Given the description of an element on the screen output the (x, y) to click on. 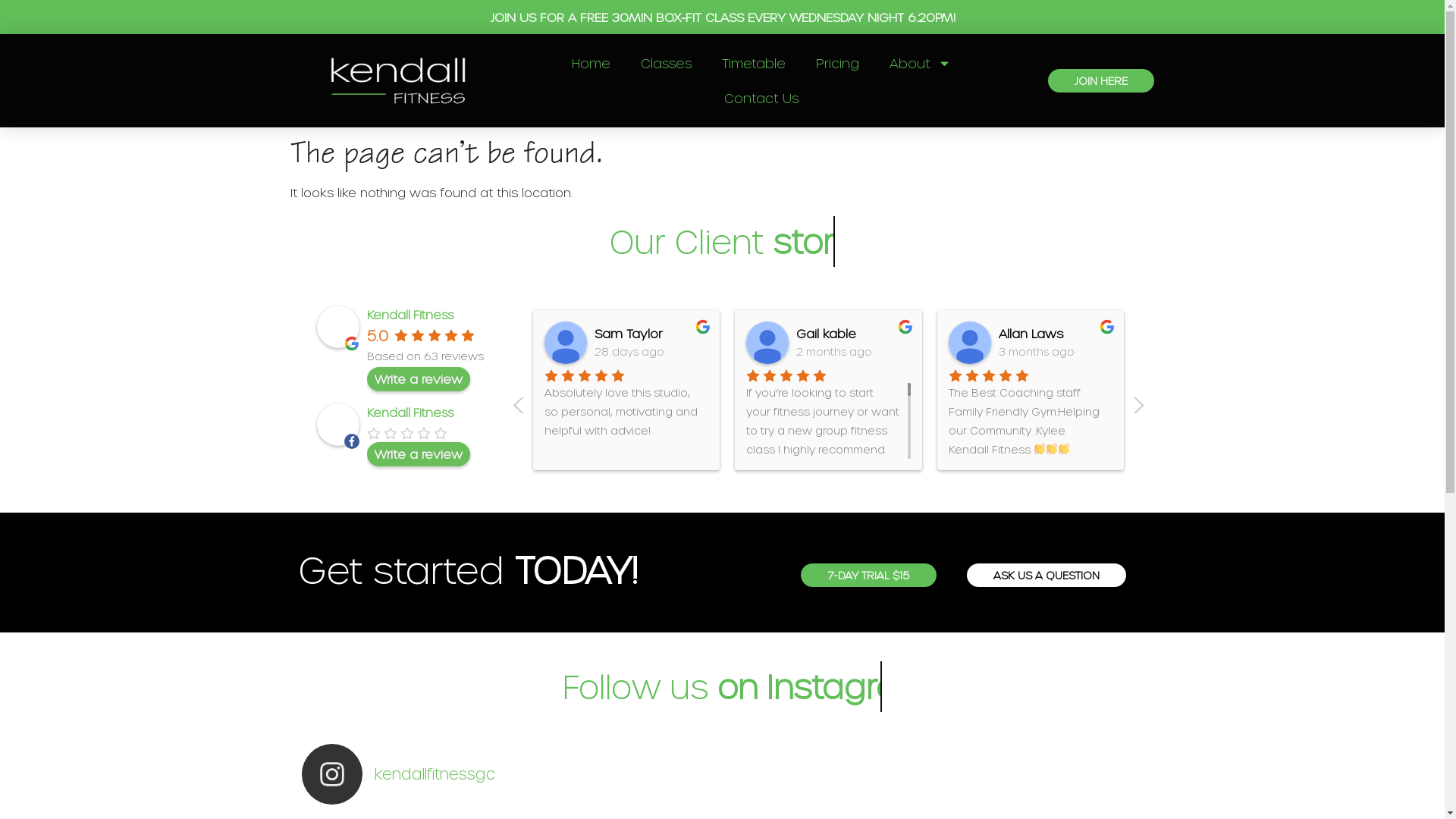
ASK US A QUESTION Element type: text (1046, 574)
Classes Element type: text (665, 62)
Kendall Fitness Element type: hover (337, 424)
Timetable Element type: text (753, 62)
Kendall Fitness Element type: text (410, 412)
7-DAY TRIAL $15 Element type: text (868, 574)
Write a review Element type: text (418, 379)
Angela swift Element type: hover (1171, 342)
Gail kable Element type: text (853, 333)
About Element type: text (920, 62)
Contact Us Element type: text (761, 97)
Sam Taylor Element type: hover (565, 342)
JOIN HERE Element type: text (1101, 80)
kendallfitnessgc Element type: text (722, 773)
Home Element type: text (590, 62)
Allan Laws Element type: hover (969, 342)
Gail kable Element type: hover (767, 342)
Pricing Element type: text (837, 62)
Kendall Fitness Element type: text (410, 314)
Write a review Element type: text (418, 454)
Sam Taylor Element type: text (651, 333)
Allan Laws Element type: text (1055, 333)
Angela swift Element type: text (1257, 333)
Kendall Fitness Element type: hover (337, 326)
